Given the description of an element on the screen output the (x, y) to click on. 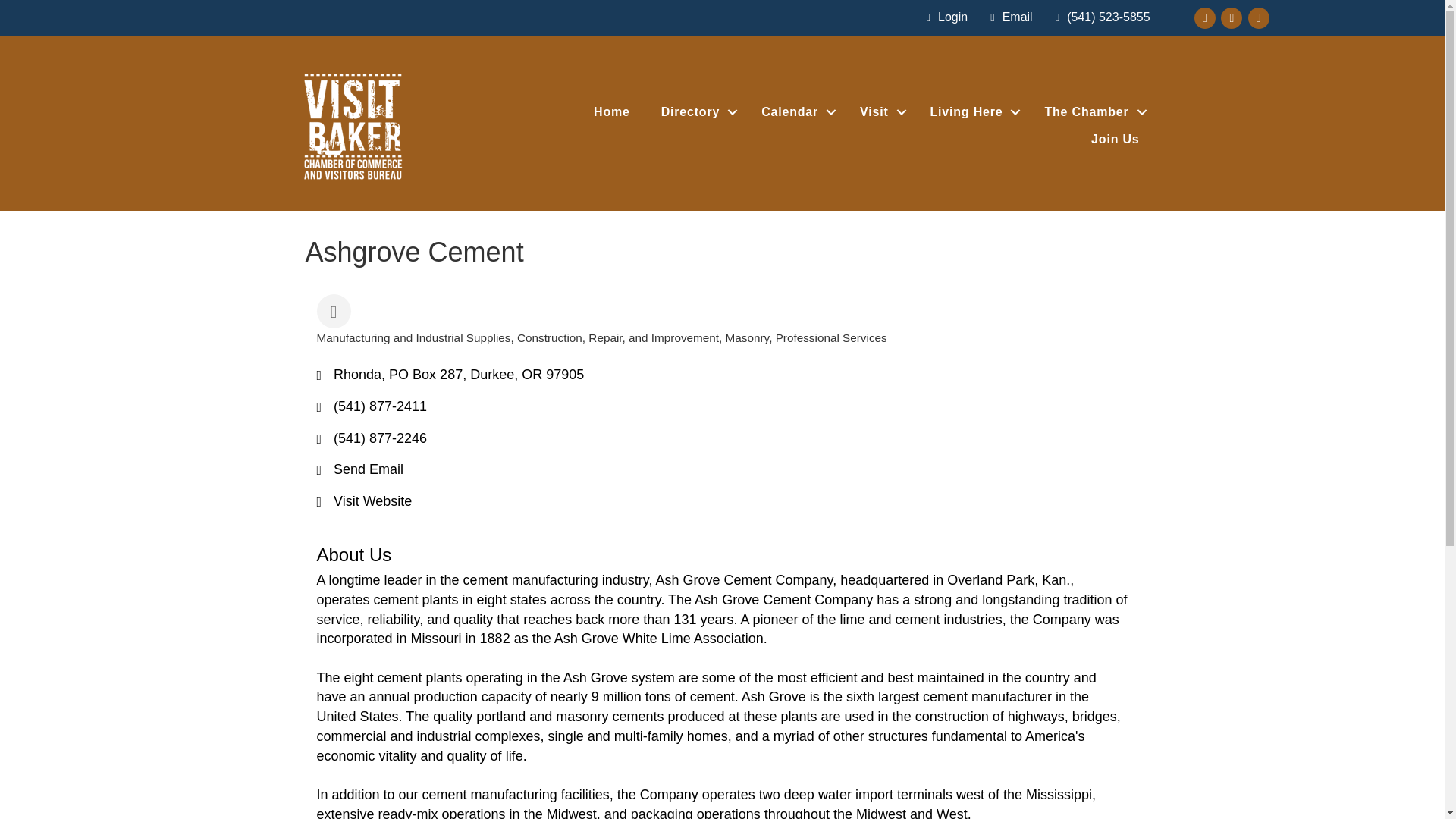
Visit (879, 112)
Directory (695, 112)
Living Here (972, 112)
Login (943, 17)
The Chamber (1091, 112)
Home (611, 112)
Calendar (794, 112)
Email (1007, 17)
